Given the description of an element on the screen output the (x, y) to click on. 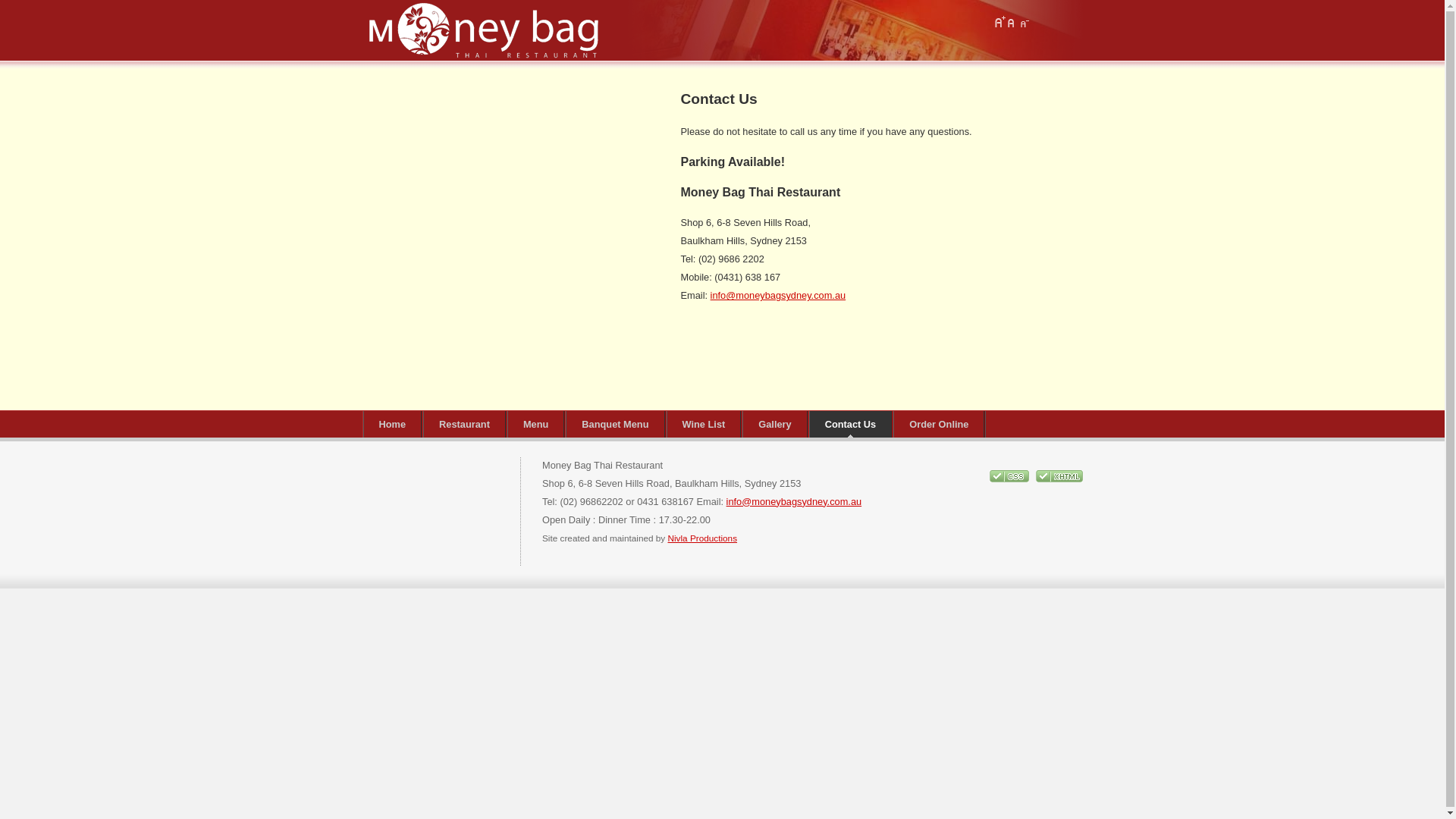
Menu Element type: text (535, 424)
Order Online Element type: text (938, 424)
MoneyBag Thai Restaurant Element type: hover (483, 30)
Home Element type: text (391, 424)
Banquet Menu Element type: text (614, 424)
Wine List Element type: text (702, 424)
CSS Validity Element type: hover (1010, 478)
XHTML Validity Element type: hover (1058, 478)
info@moneybagsydney.com.au Element type: text (794, 501)
Gallery Element type: text (774, 424)
Increase font size. Element type: hover (999, 21)
Decrease font size. Element type: hover (1023, 21)
info@moneybagsydney.com.au Element type: text (778, 295)
Nivla Productions Element type: text (702, 537)
Restaurant Element type: text (464, 424)
Default font size. Element type: hover (1011, 21)
Contact Us Element type: text (850, 424)
